Given the description of an element on the screen output the (x, y) to click on. 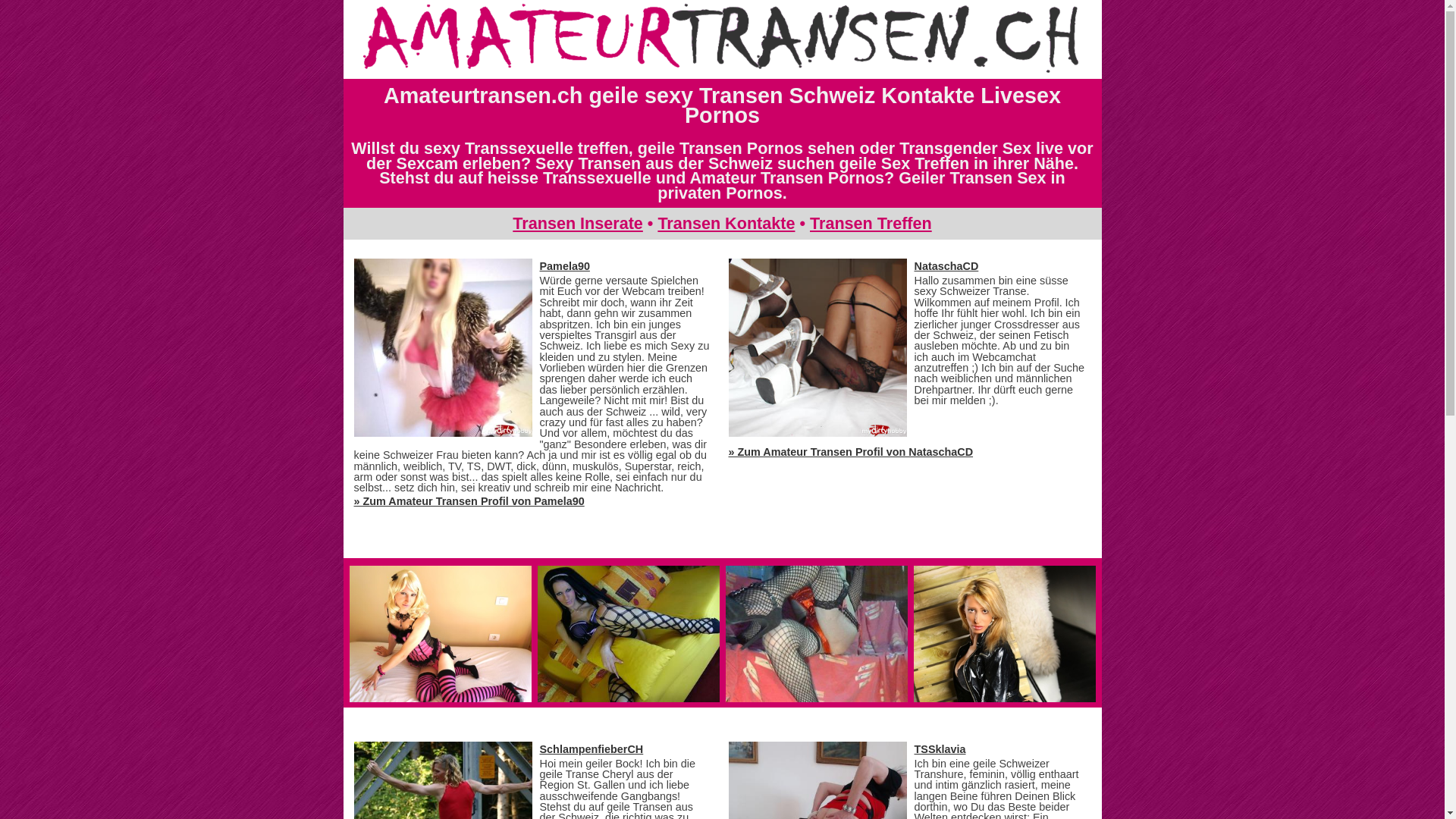
Transen Treffen Element type: text (870, 222)
Transen Inserate Element type: text (577, 222)
NataschaCD Element type: text (946, 266)
TSSklavia Element type: text (940, 749)
Pamela90 Element type: text (564, 266)
Transen Kontakte Element type: text (725, 222)
SchlampenfieberCH Element type: text (591, 749)
